Given the description of an element on the screen output the (x, y) to click on. 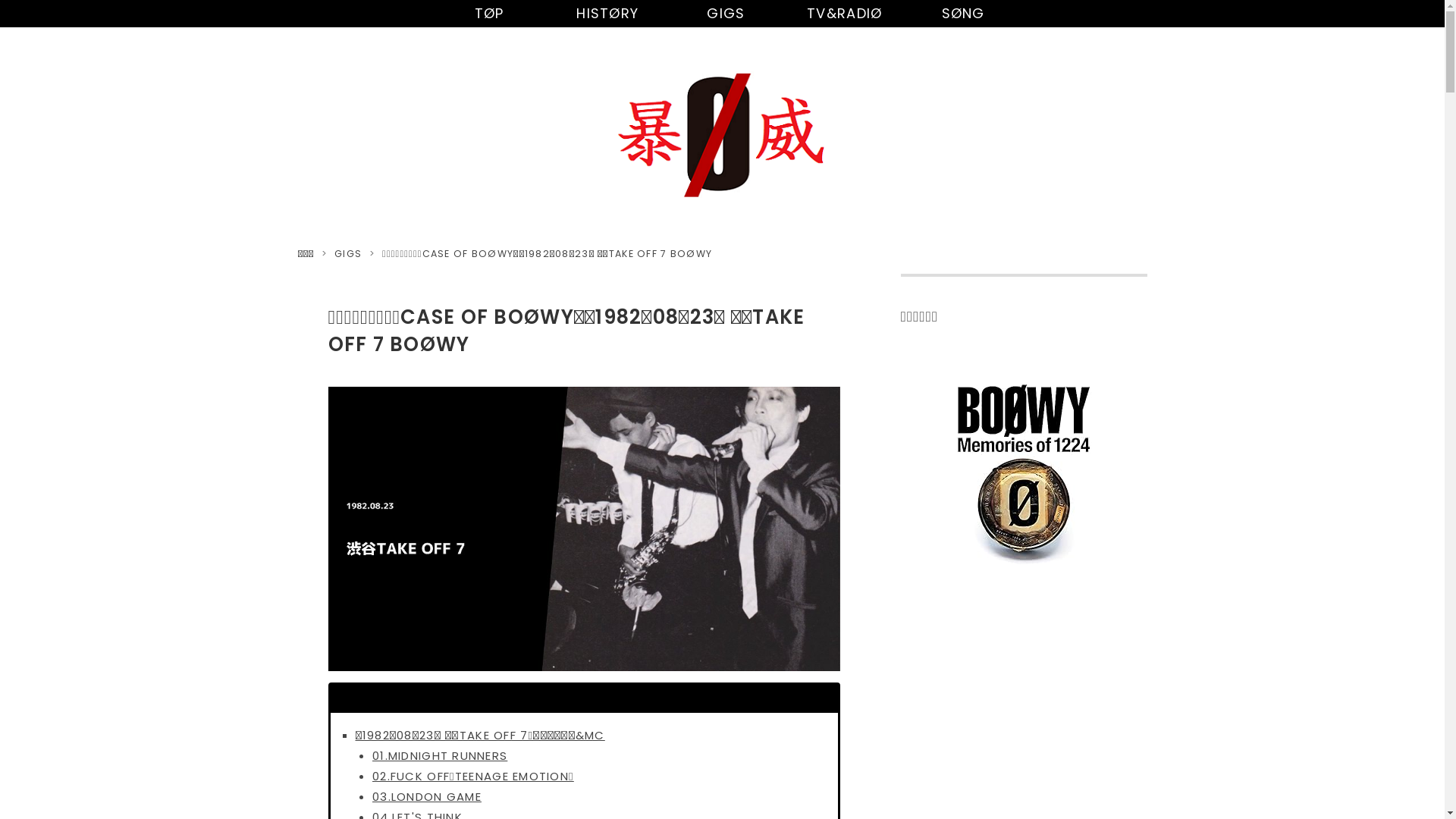
GIGS Element type: text (722, 13)
GIGS Element type: text (347, 253)
03.LONDON GAME Element type: text (426, 796)
01.MIDNIGHT RUNNERS Element type: text (439, 755)
